Given the description of an element on the screen output the (x, y) to click on. 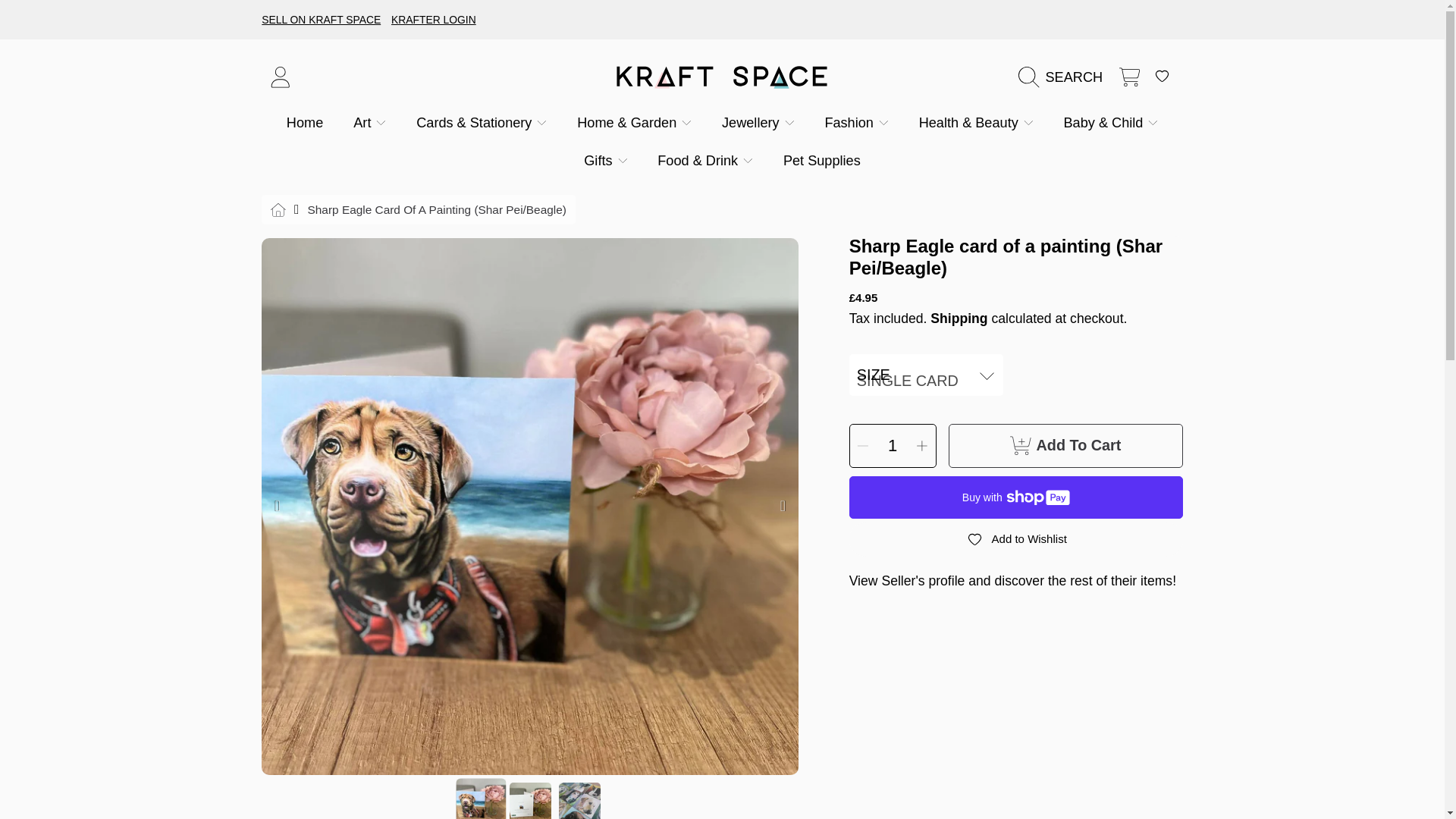
SELL ON KRAFT SPACE (325, 19)
KRAFTER LOGIN (437, 19)
SKIP TO CONTENT (105, 21)
